Given the description of an element on the screen output the (x, y) to click on. 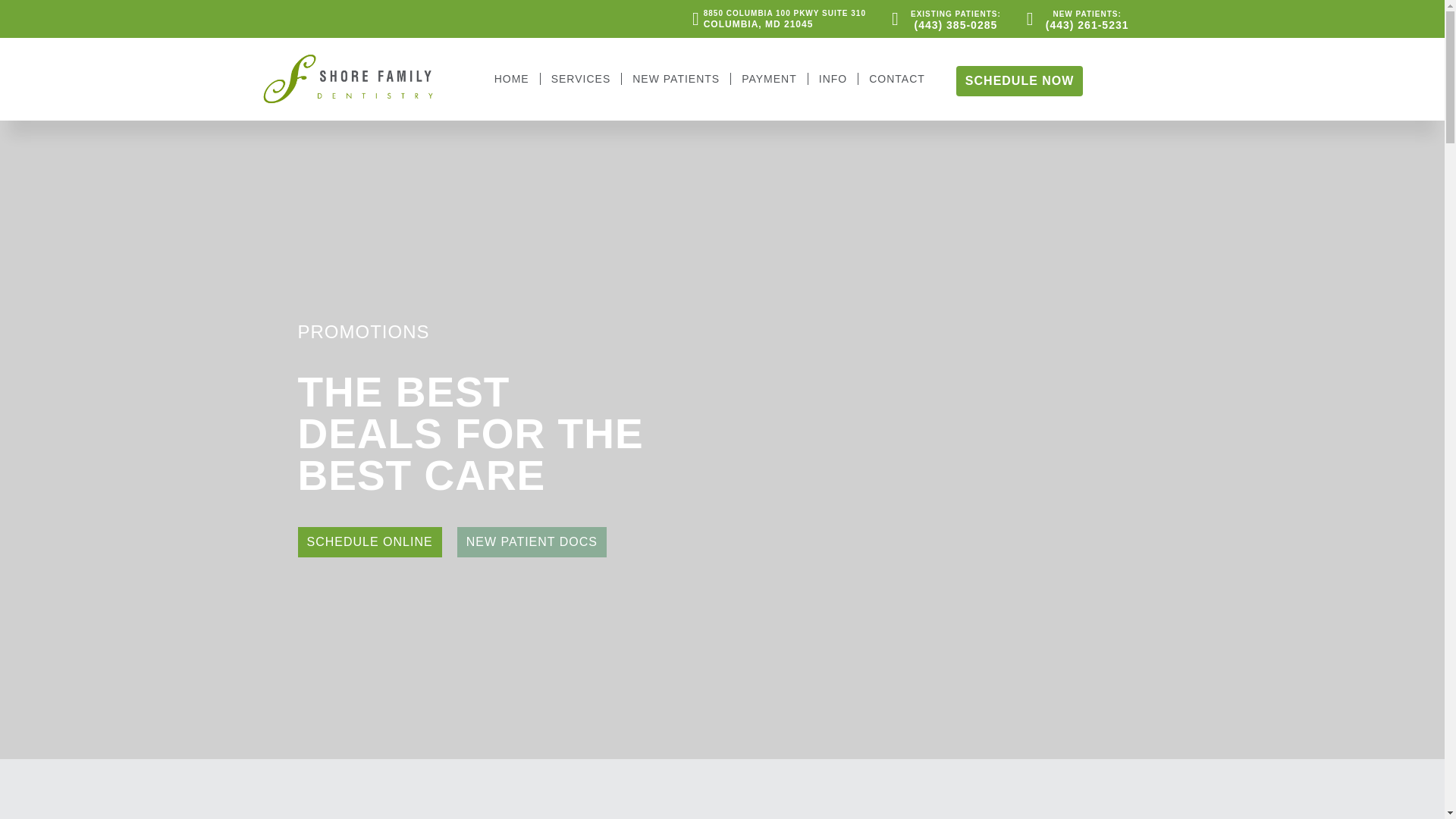
NEW PATIENTS (771, 18)
PAYMENT (675, 78)
HOME (768, 78)
CONTACT (512, 78)
SERVICES (896, 78)
